Given the description of an element on the screen output the (x, y) to click on. 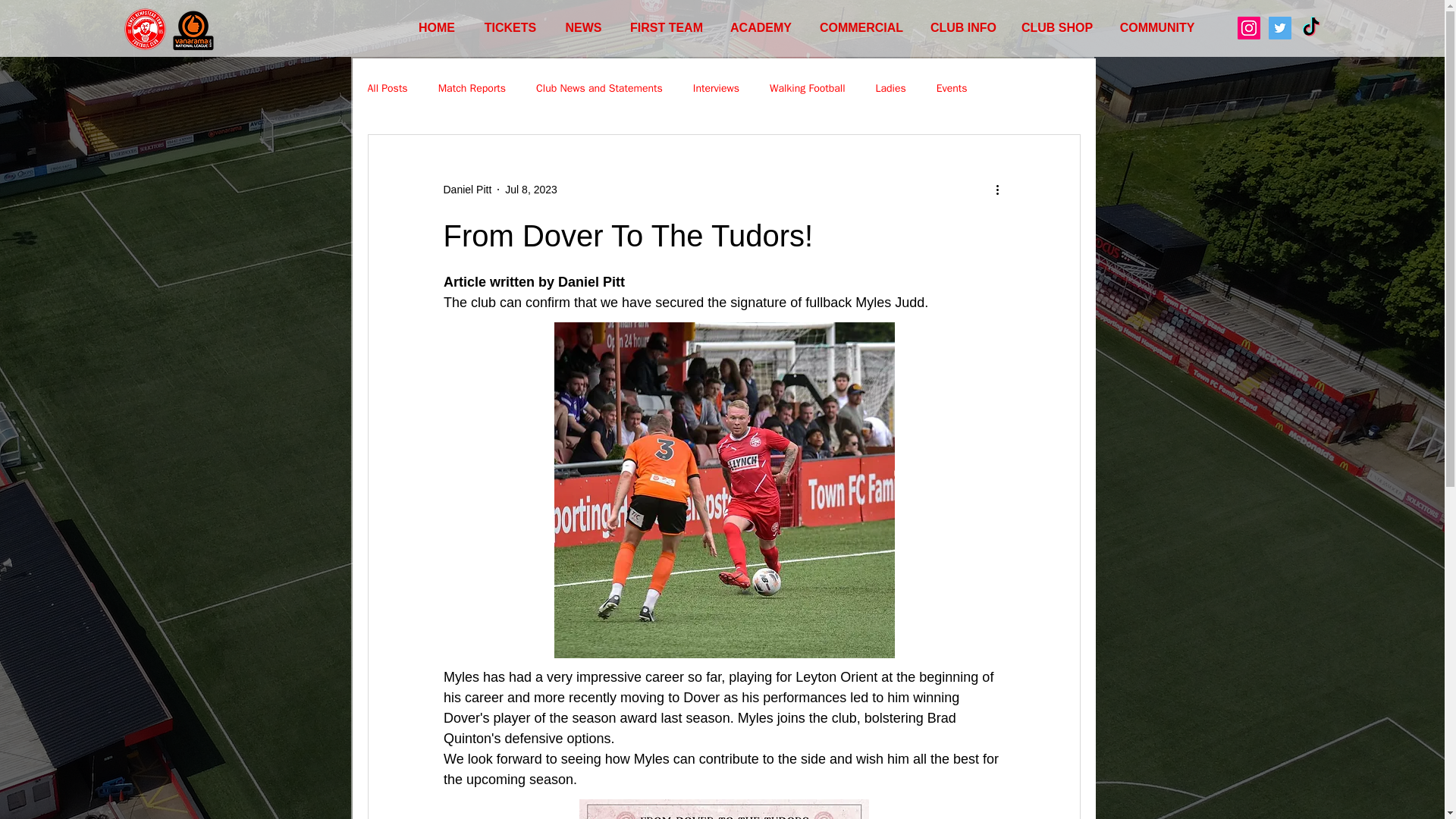
ACADEMY (760, 27)
Daniel Pitt (467, 189)
All Posts (386, 88)
CLUB SHOP (1057, 27)
HOME (436, 27)
Interviews (716, 88)
NEWS (583, 27)
Match Reports (471, 88)
Club News and Statements (598, 88)
Jul 8, 2023 (531, 189)
